Given the description of an element on the screen output the (x, y) to click on. 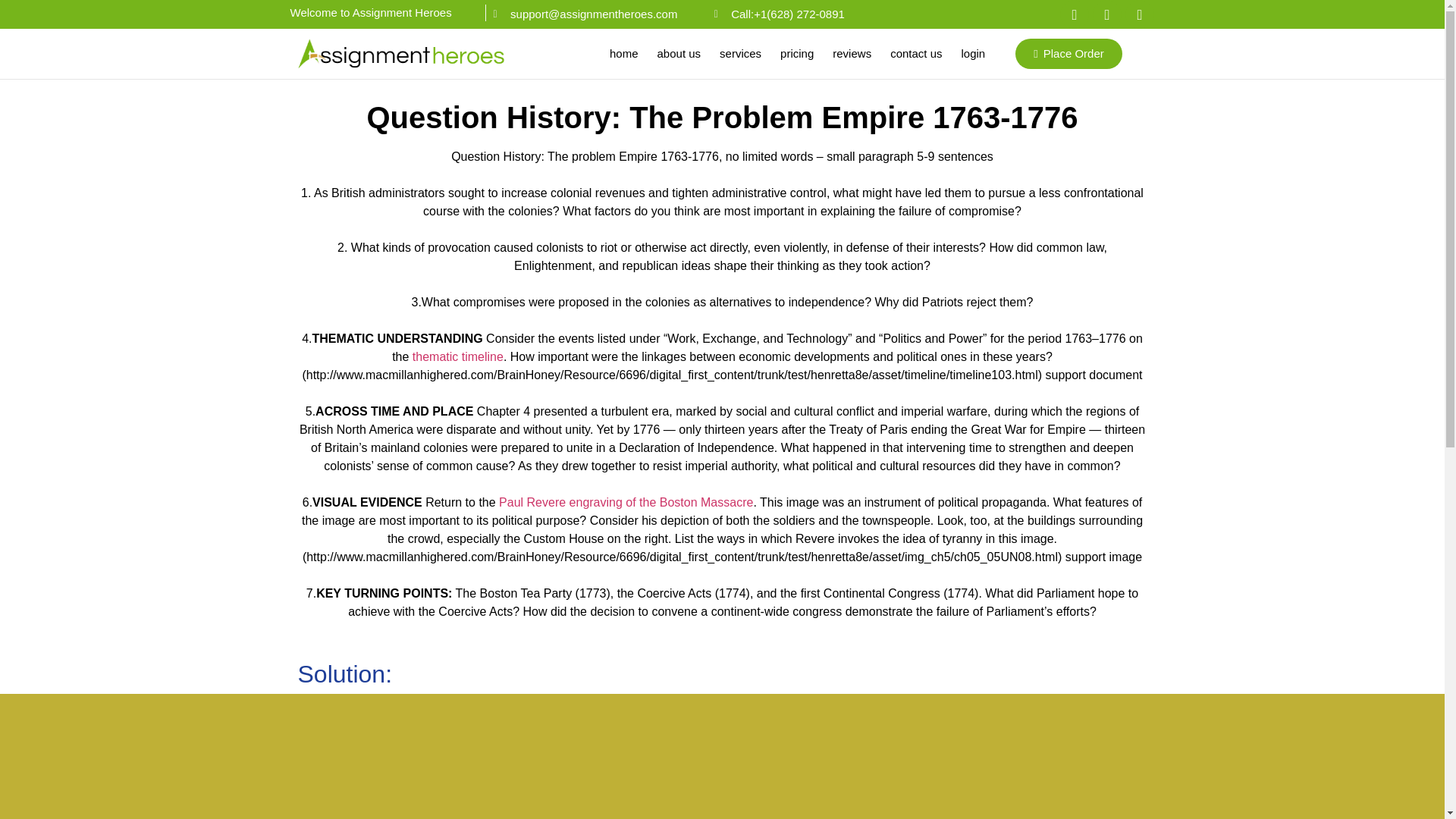
about us (679, 53)
thematic timeline (457, 356)
reviews (851, 53)
login (973, 53)
Paul Revere engraving of the Boston Massacre (625, 502)
services (740, 53)
home (623, 53)
contact us (915, 53)
pricing (796, 53)
Place Order (1068, 53)
